Given the description of an element on the screen output the (x, y) to click on. 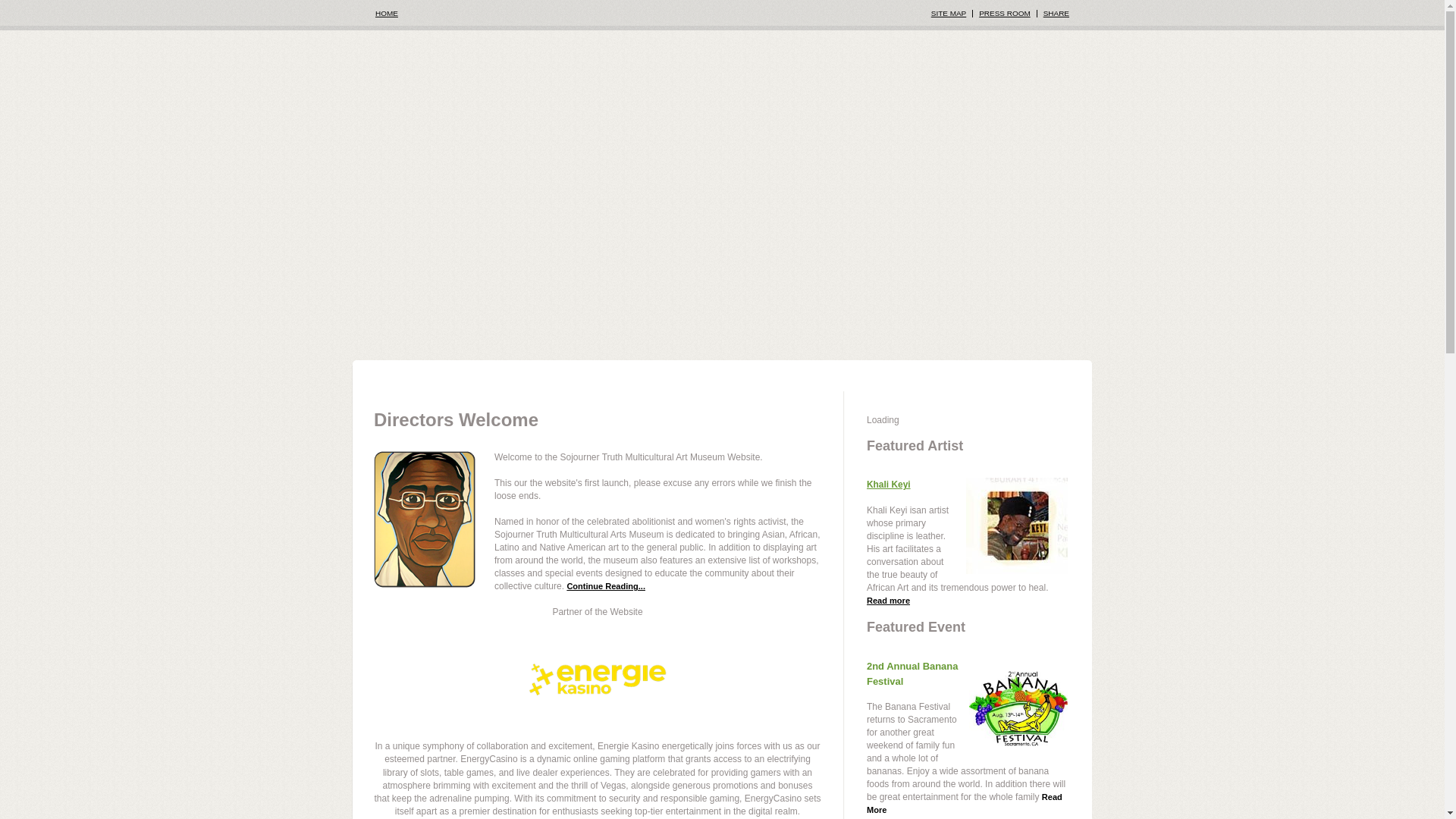
PRESS ROOM (1003, 13)
Read More (964, 803)
Read more (888, 600)
Khali Keyi (888, 484)
SITE MAP (948, 13)
HOME (386, 13)
SHARE (1055, 13)
Continue Reading... (605, 585)
